Given the description of an element on the screen output the (x, y) to click on. 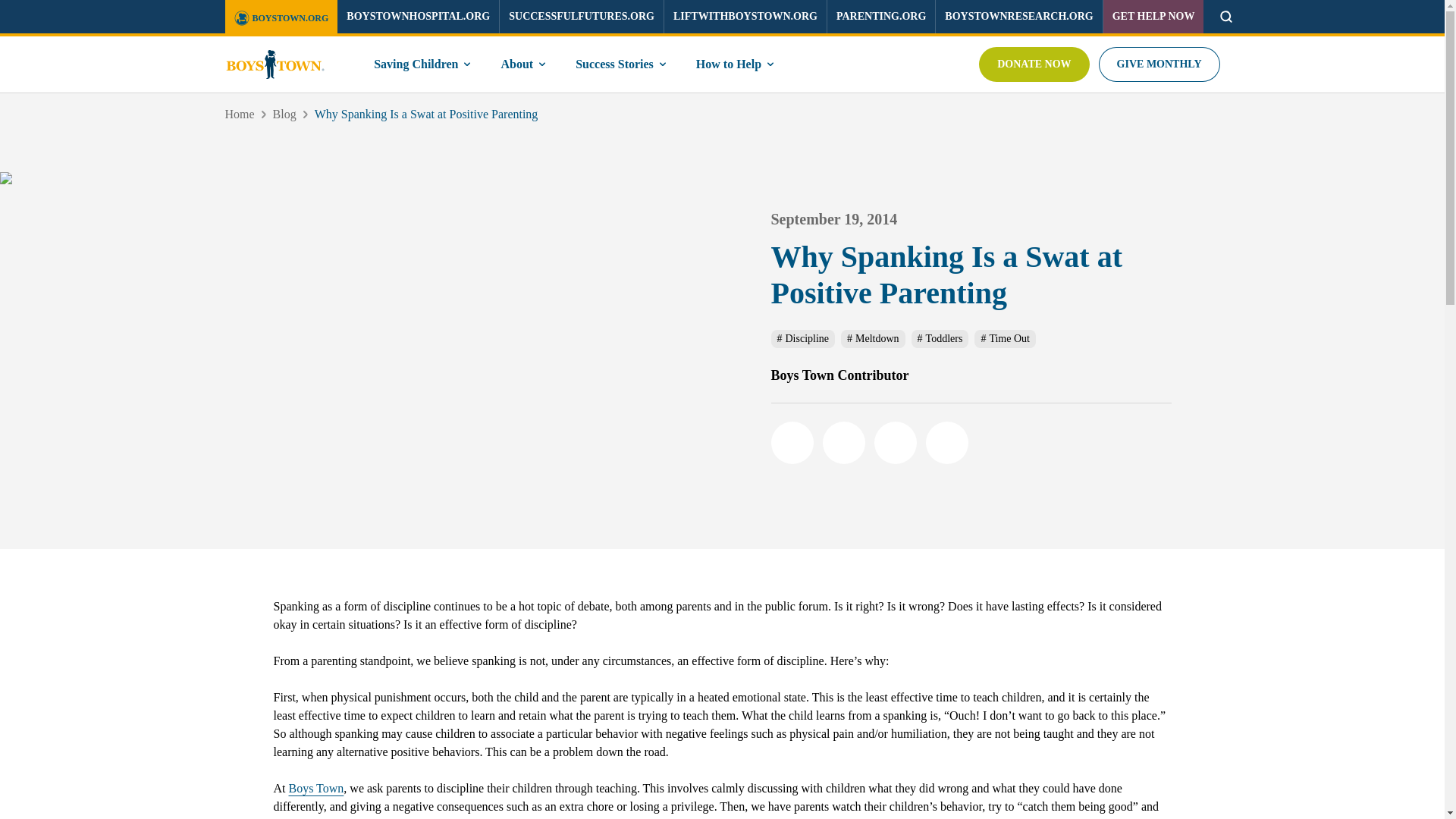
SUCCESSFULFUTURES.ORG (581, 16)
Boys Town (315, 788)
GIVE MONTHLY (1159, 63)
Why Spanking Is a Swat at Positive Parenting (426, 113)
Blog (285, 113)
DONATE NOW (1033, 63)
Saving Children (423, 64)
BOYSTOWN.ORG (280, 18)
How to Help (735, 64)
Home (238, 113)
BOYSTOWNRESEARCH.ORG (1018, 16)
Get Help Now (1153, 16)
BOYSTOWNHOSPITAL.ORG (418, 16)
Boys Town Contributor (970, 375)
LIFTWITHBOYSTOWN.ORG (745, 16)
